Given the description of an element on the screen output the (x, y) to click on. 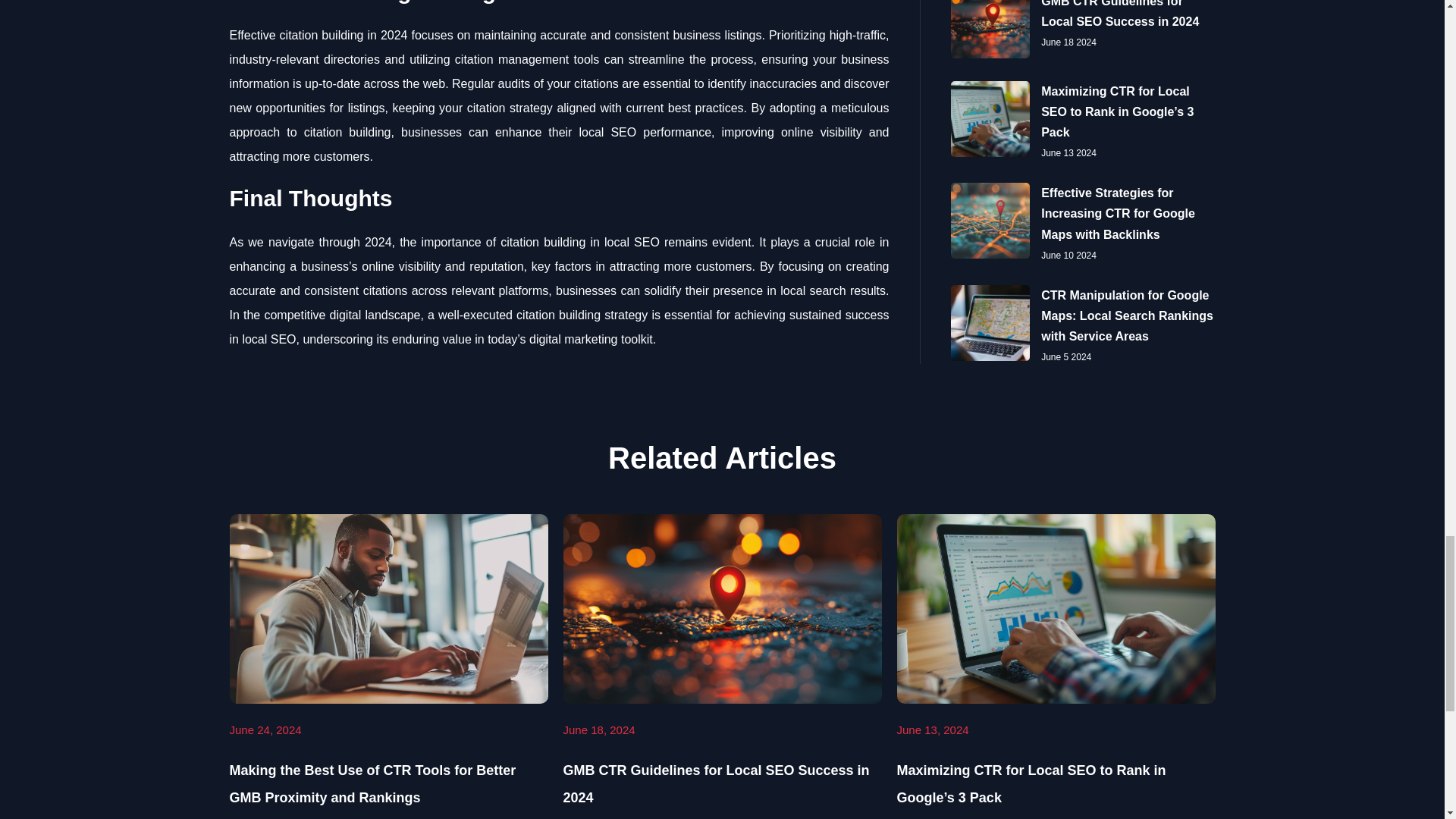
GMB CTR Guidelines for Local SEO Success in 2024 (715, 783)
GMB CTR Guidelines for Local SEO Success in 2024 (715, 783)
